Given the description of an element on the screen output the (x, y) to click on. 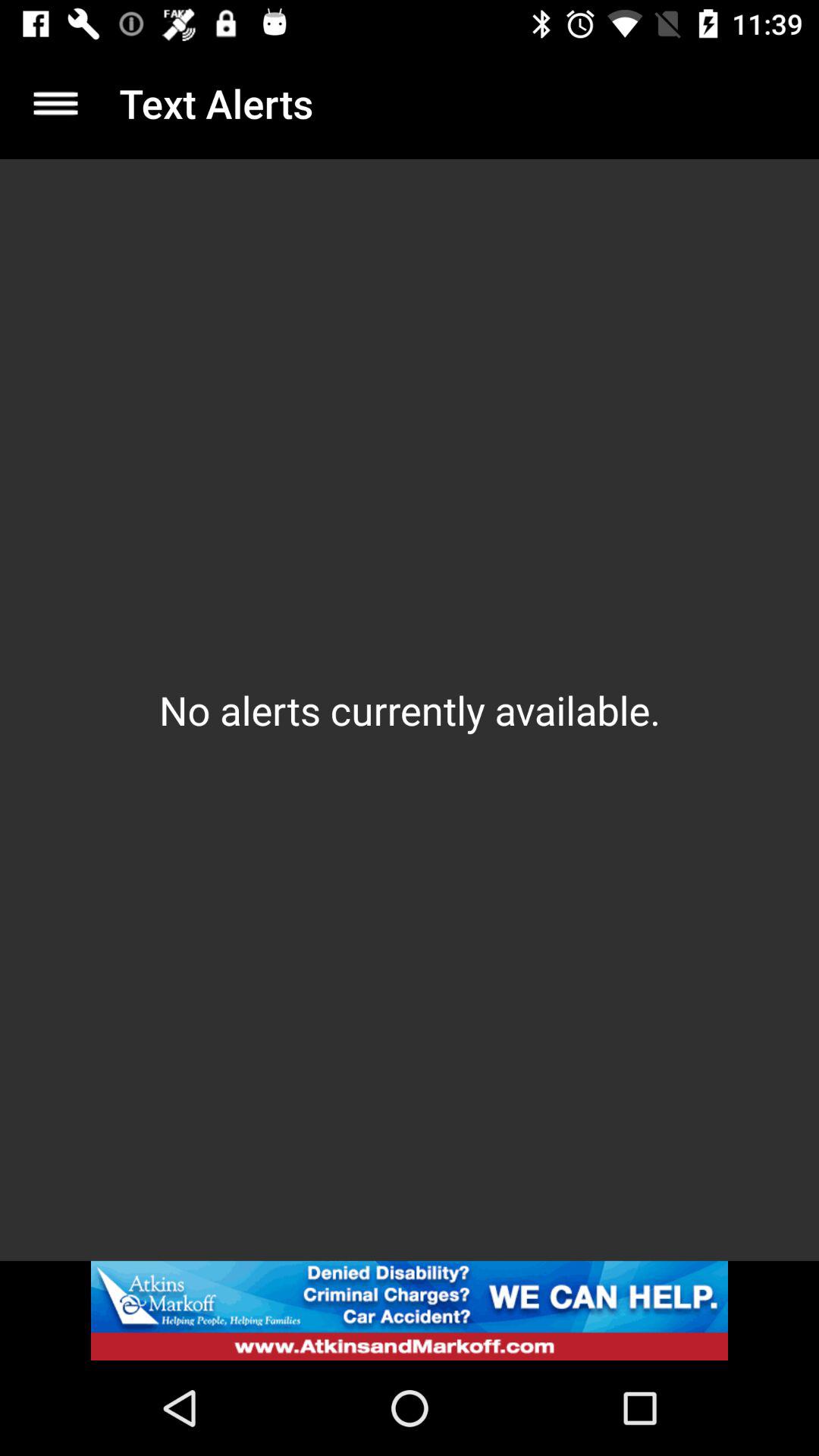
open menu (55, 103)
